Given the description of an element on the screen output the (x, y) to click on. 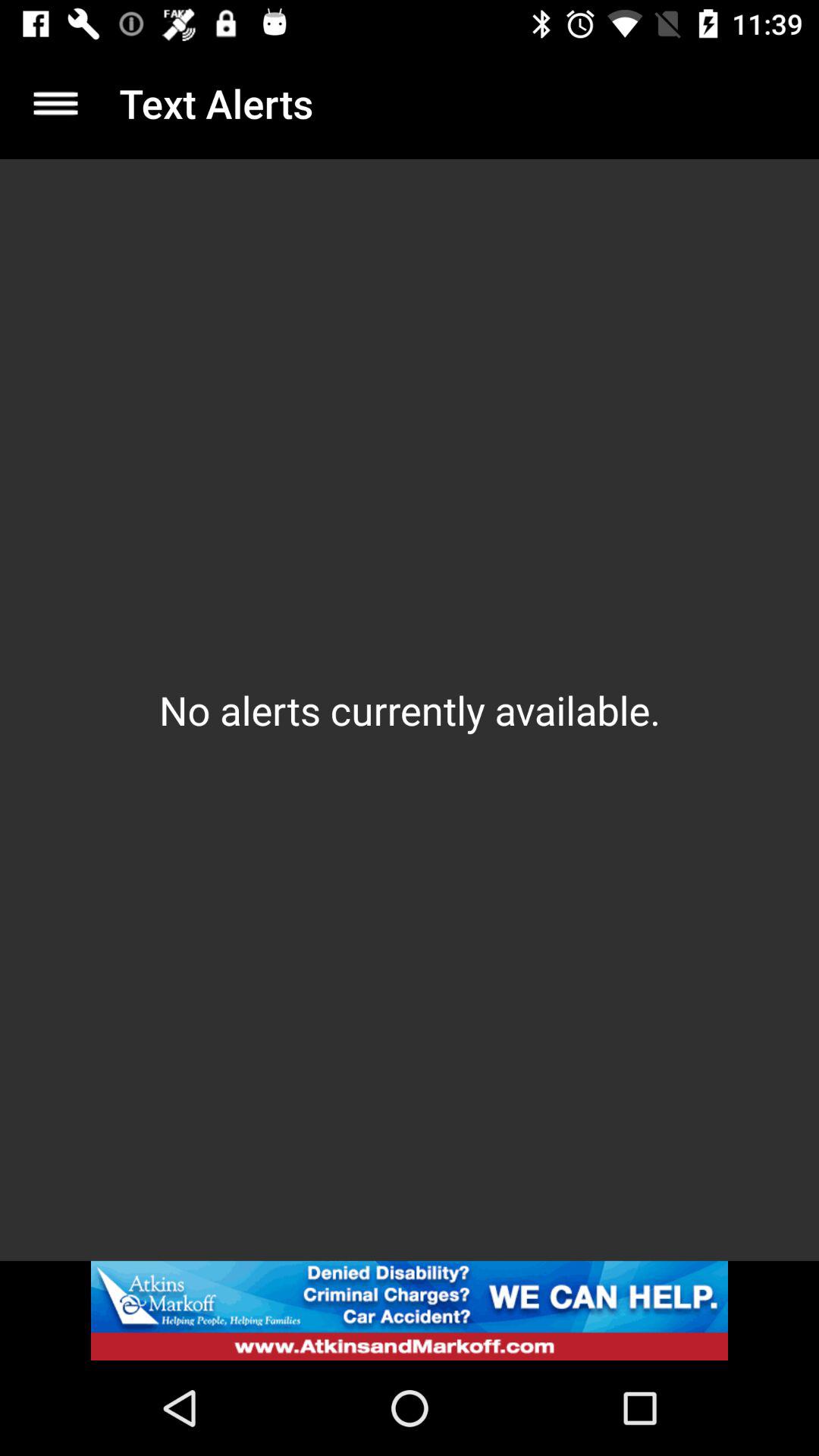
open menu (55, 103)
